Given the description of an element on the screen output the (x, y) to click on. 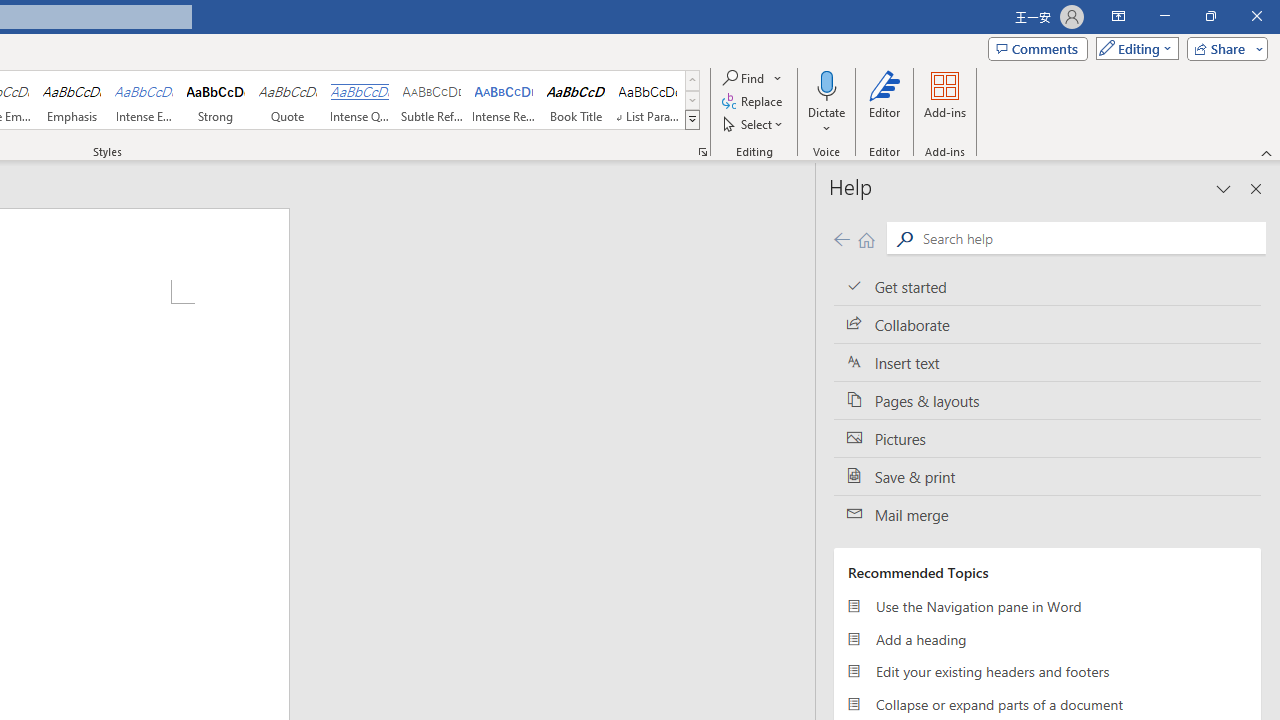
Pages & layouts (1047, 400)
Use the Navigation pane in Word (1047, 605)
Dictate (826, 102)
Strong (216, 100)
Ribbon Display Options (1118, 16)
Close pane (1256, 188)
Search (904, 238)
Close (1256, 16)
Collaborate (1047, 325)
Edit your existing headers and footers (1047, 672)
Replace... (753, 101)
Get started (1047, 286)
Home (866, 238)
Restore Down (1210, 16)
Find (753, 78)
